Given the description of an element on the screen output the (x, y) to click on. 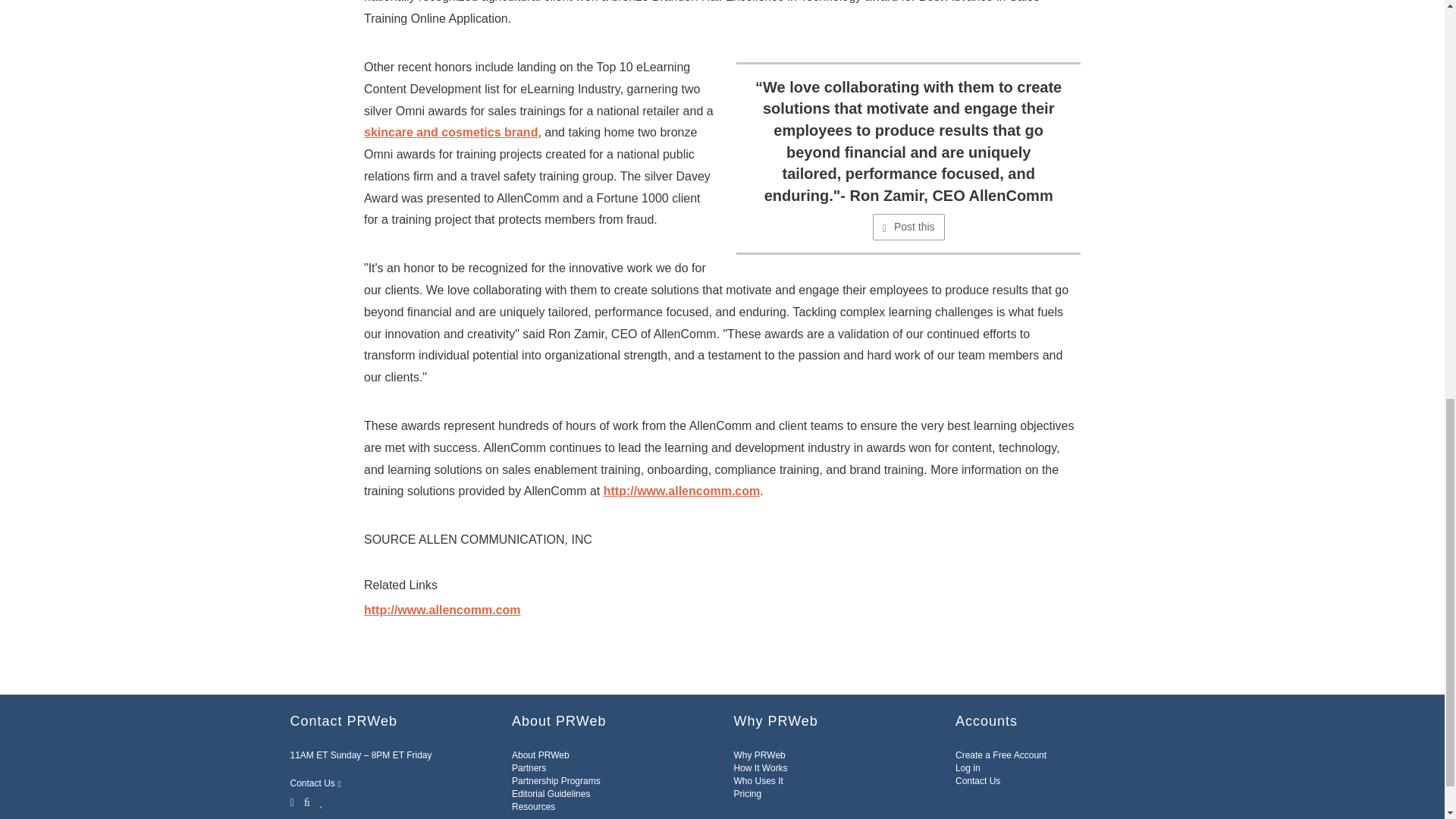
Partners (529, 767)
Partnership Programs (555, 780)
Editorial Guidelines (550, 793)
Why PRWeb (759, 755)
About PRWeb (540, 755)
Facebook (306, 801)
Resources (533, 806)
